Given the description of an element on the screen output the (x, y) to click on. 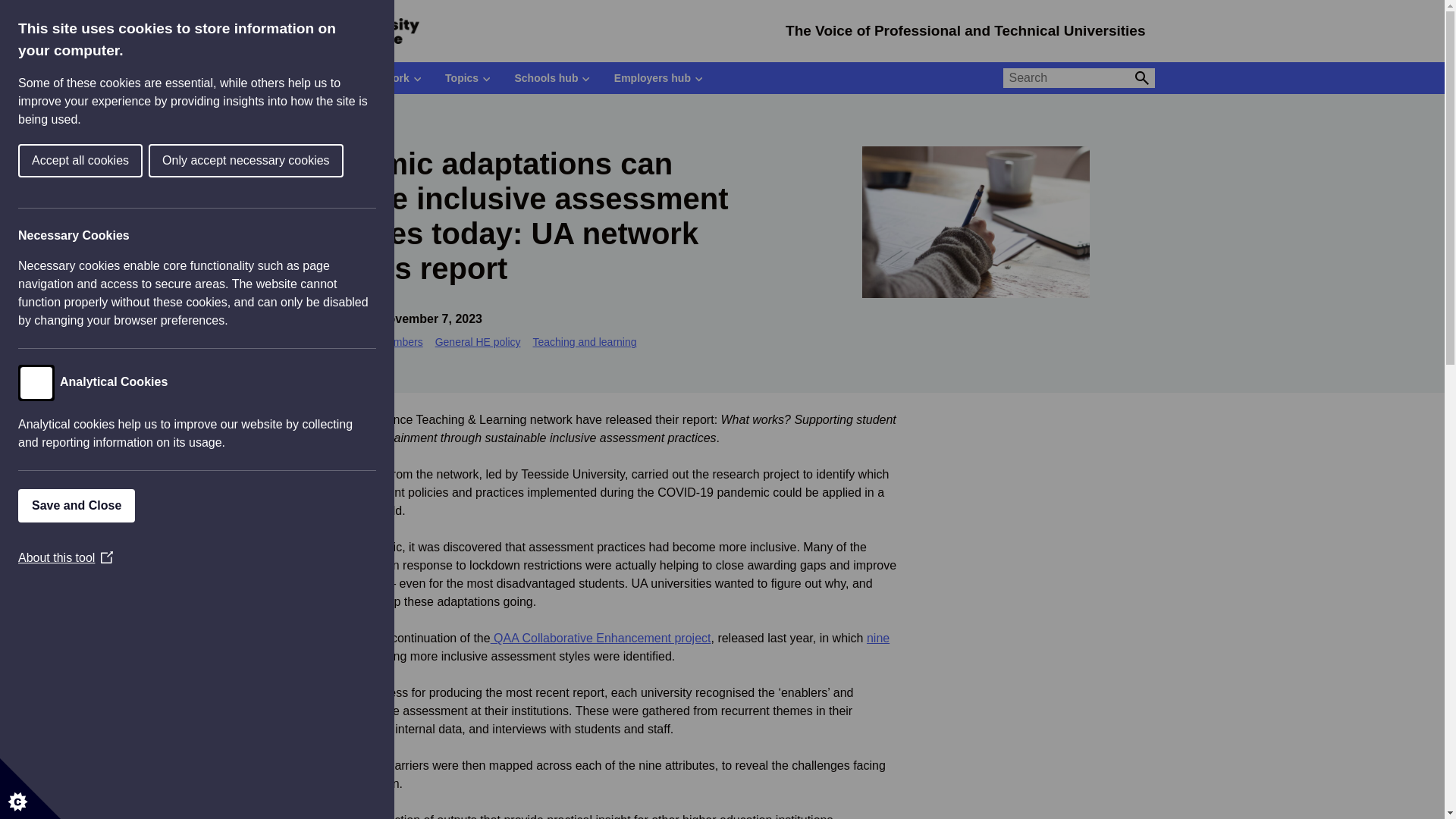
Our work (391, 78)
Topics (467, 78)
Only accept necessary cookies (36, 160)
About (316, 78)
Go to University Alliance. (303, 119)
